Given the description of an element on the screen output the (x, y) to click on. 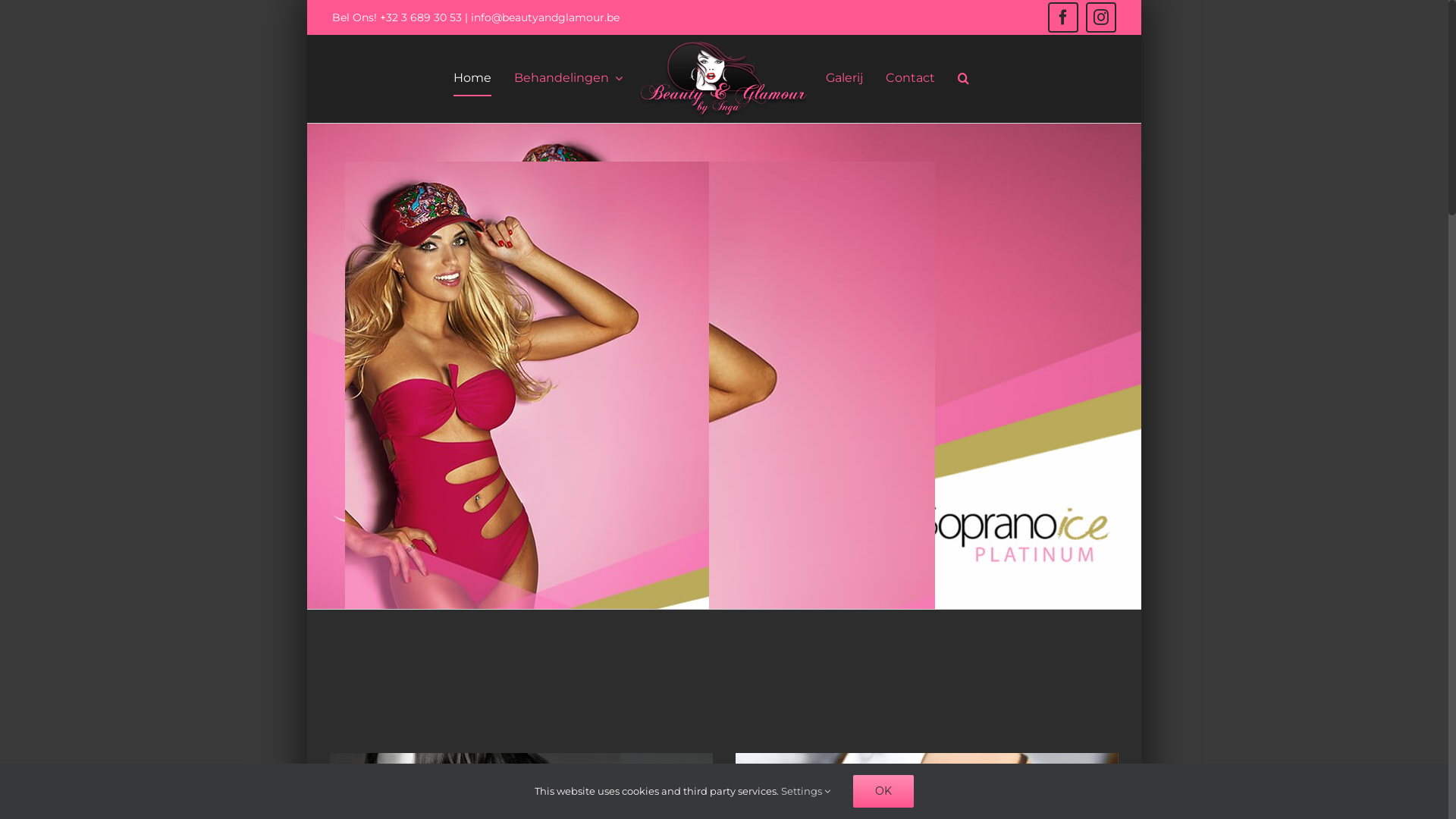
Settings Element type: text (805, 790)
Contact Element type: text (910, 78)
OK Element type: text (883, 791)
Galerij Element type: text (843, 78)
Zoeken Element type: hover (963, 78)
Behandelingen Element type: text (568, 78)
+32 3 689 30 53 Element type: text (421, 17)
Home Element type: text (472, 78)
info@beautyandglamour.be Element type: text (544, 17)
